Given the description of an element on the screen output the (x, y) to click on. 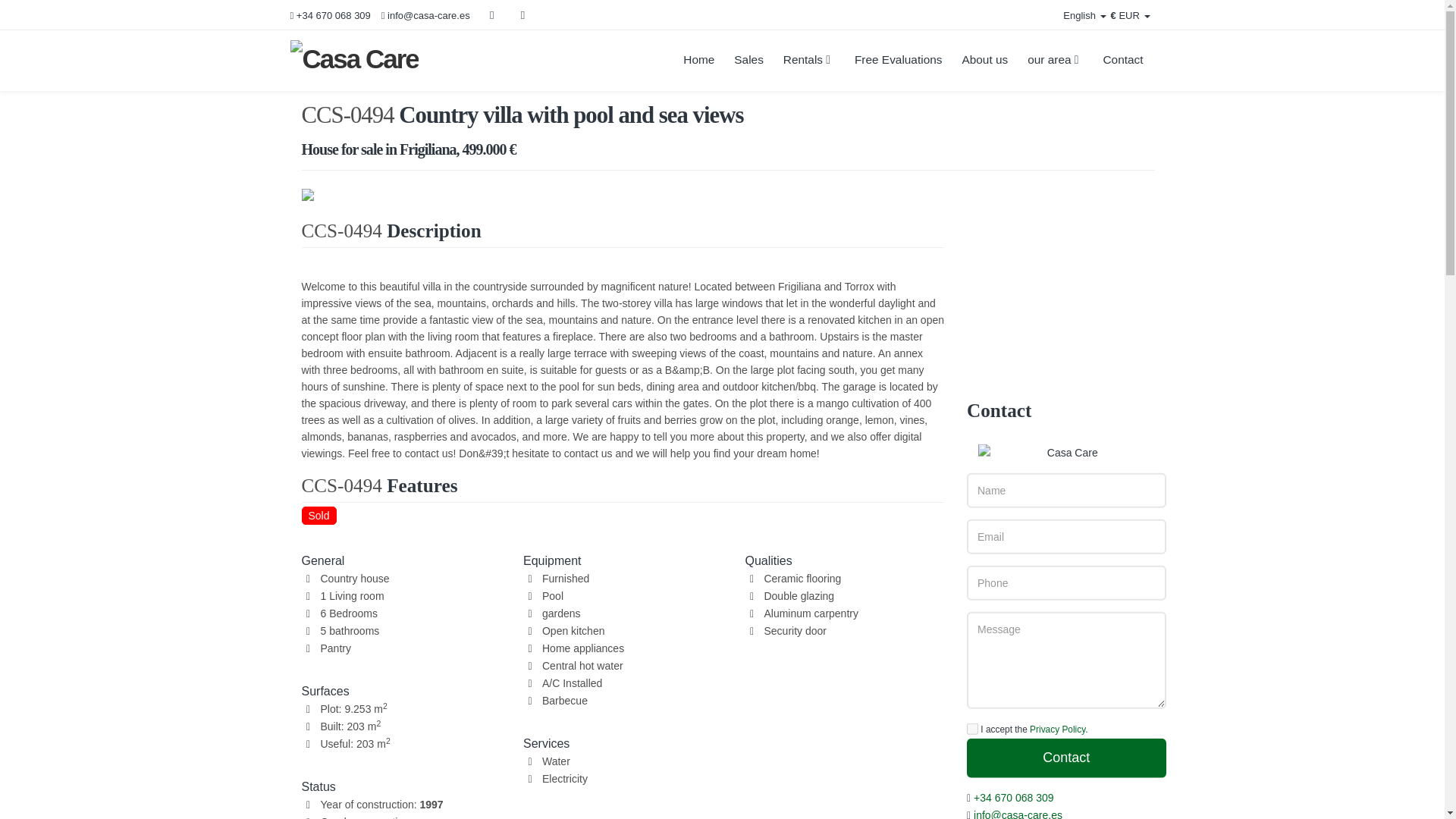
Sales (748, 60)
Accept (306, 777)
Free Evaluations (898, 60)
Casa Care (402, 60)
Decline (236, 777)
English (1074, 15)
Rentals (808, 60)
Home (698, 60)
1 (972, 810)
